Given the description of an element on the screen output the (x, y) to click on. 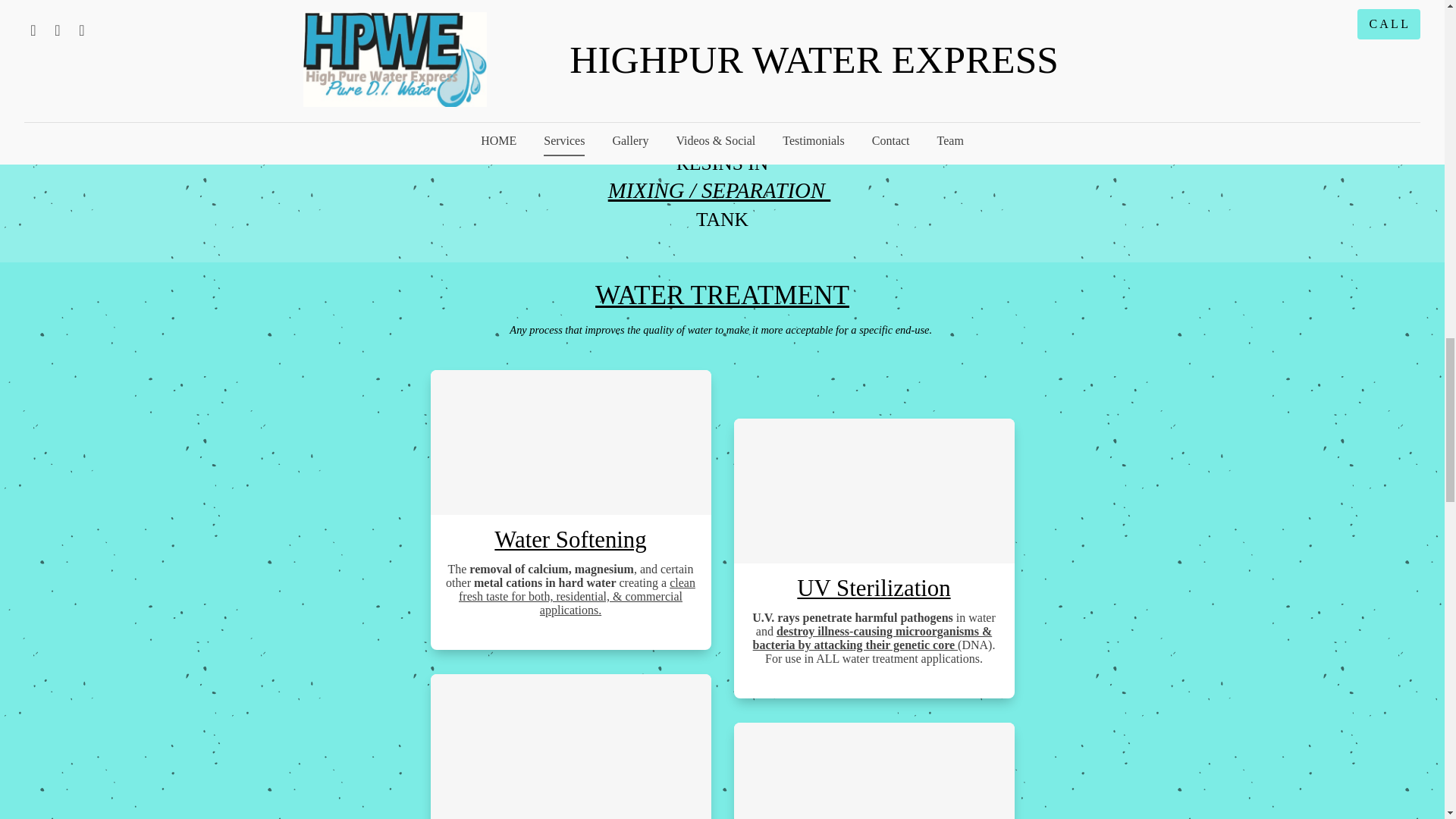
Water Softening (570, 540)
UV Sterilization (873, 588)
